Given the description of an element on the screen output the (x, y) to click on. 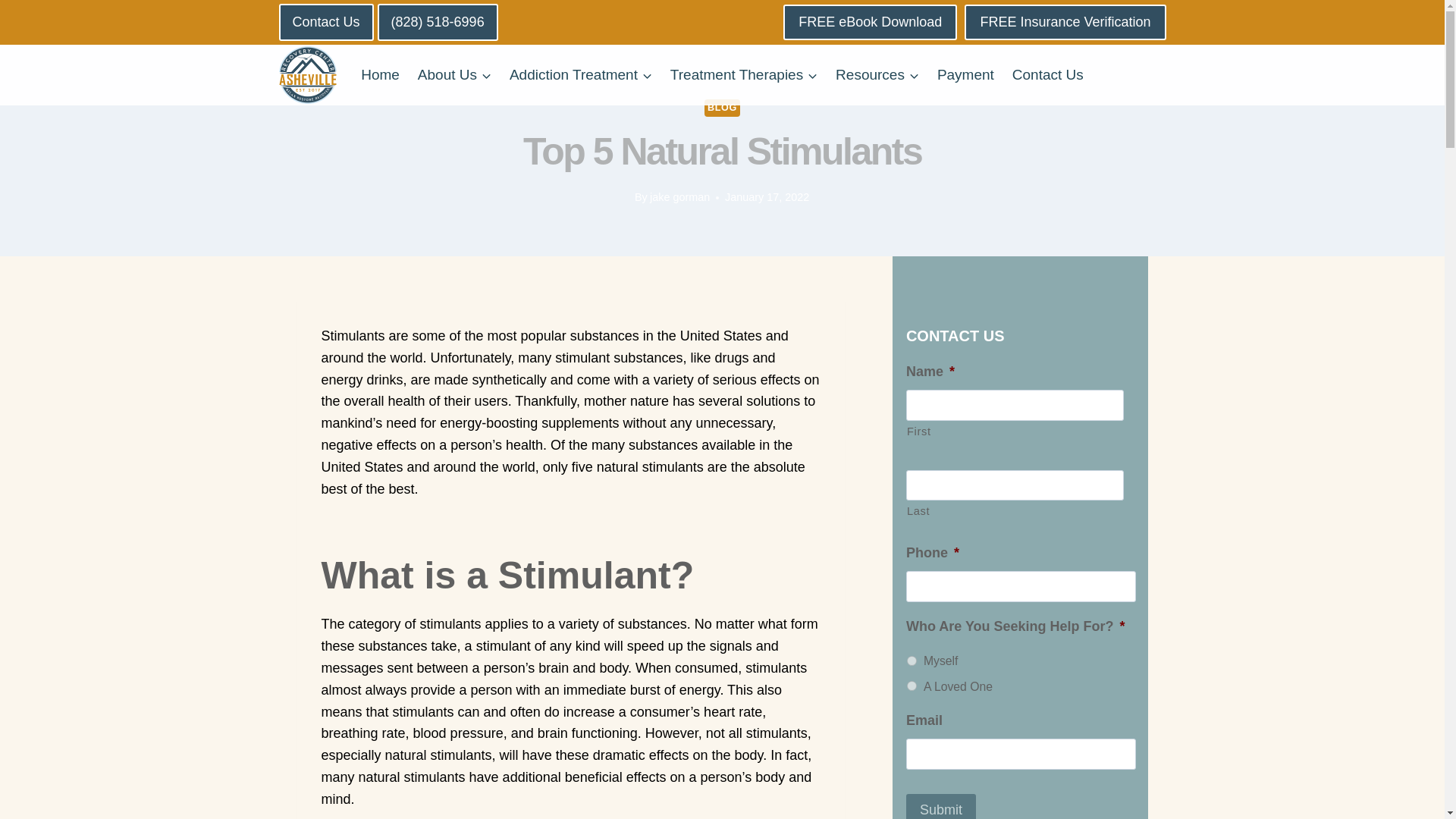
FREE Insurance Verification (1064, 22)
About Us (454, 74)
A Loved One (912, 685)
Home (380, 74)
Myself (912, 660)
Addiction Treatment (580, 74)
Contact Us (326, 22)
Treatment Therapies (744, 74)
Submit (940, 806)
Resources (877, 74)
FREE eBook Download (869, 22)
